Given the description of an element on the screen output the (x, y) to click on. 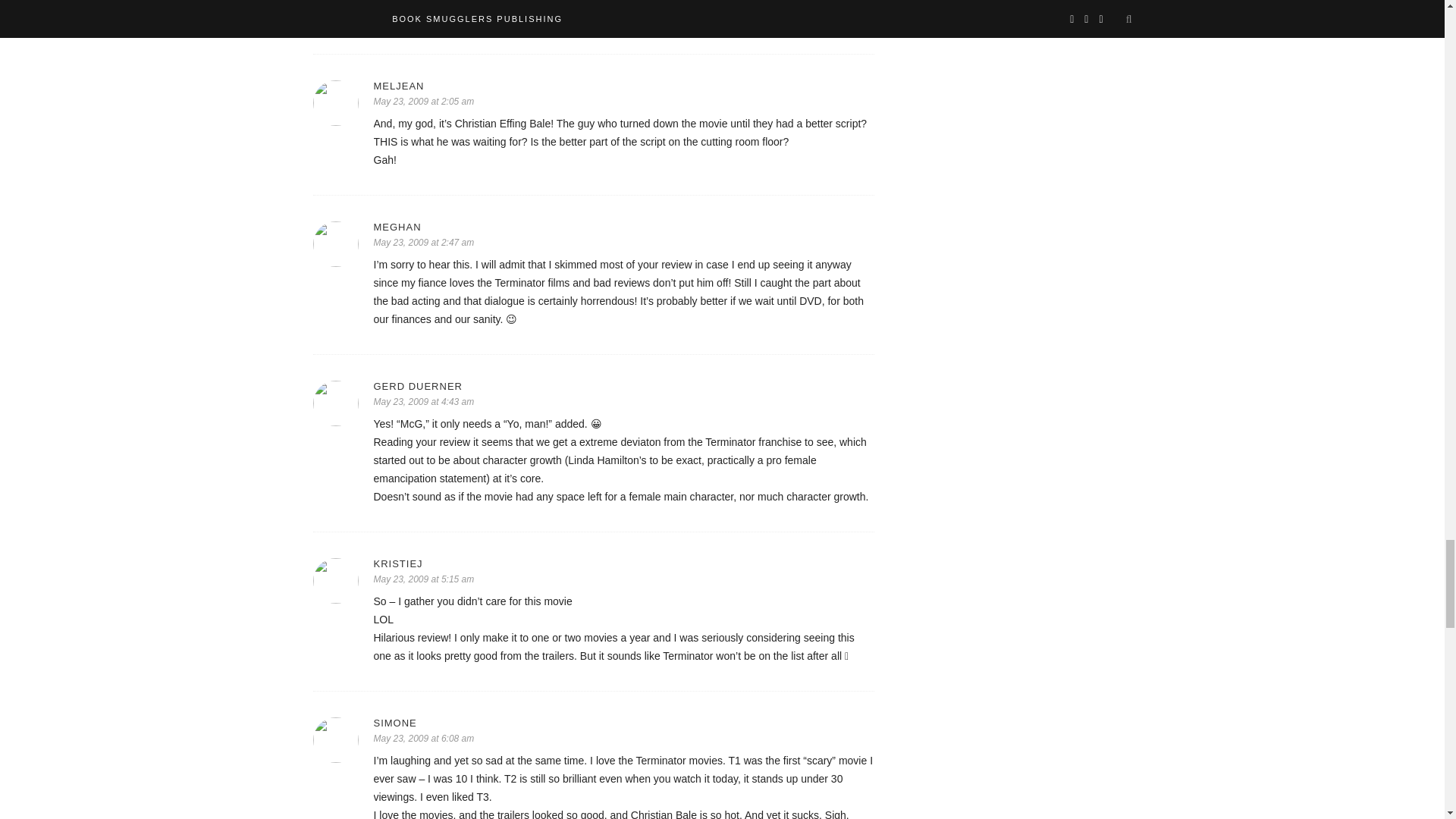
MELJEAN (622, 85)
MEGHAN (622, 226)
KRISTIEJ (622, 563)
